Given the description of an element on the screen output the (x, y) to click on. 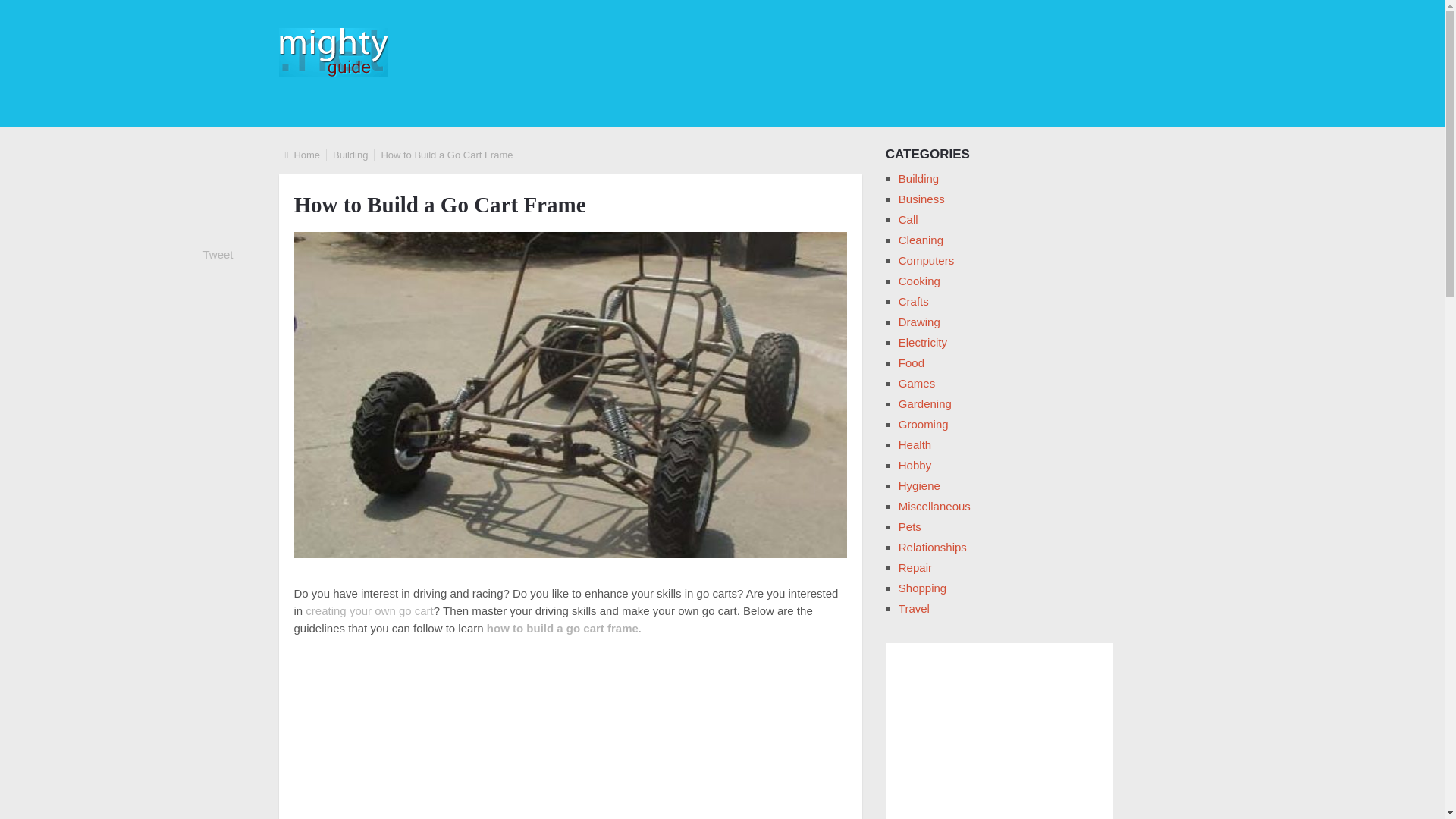
Grooming (923, 423)
Health (914, 444)
Crafts (913, 300)
Electricity (922, 341)
Home (307, 154)
Call (908, 219)
Repair (914, 567)
Computers (925, 259)
Games (916, 382)
Building (918, 178)
Business (921, 198)
Hobby (914, 464)
Tweet (217, 254)
Relationships (932, 546)
Cooking (919, 280)
